Given the description of an element on the screen output the (x, y) to click on. 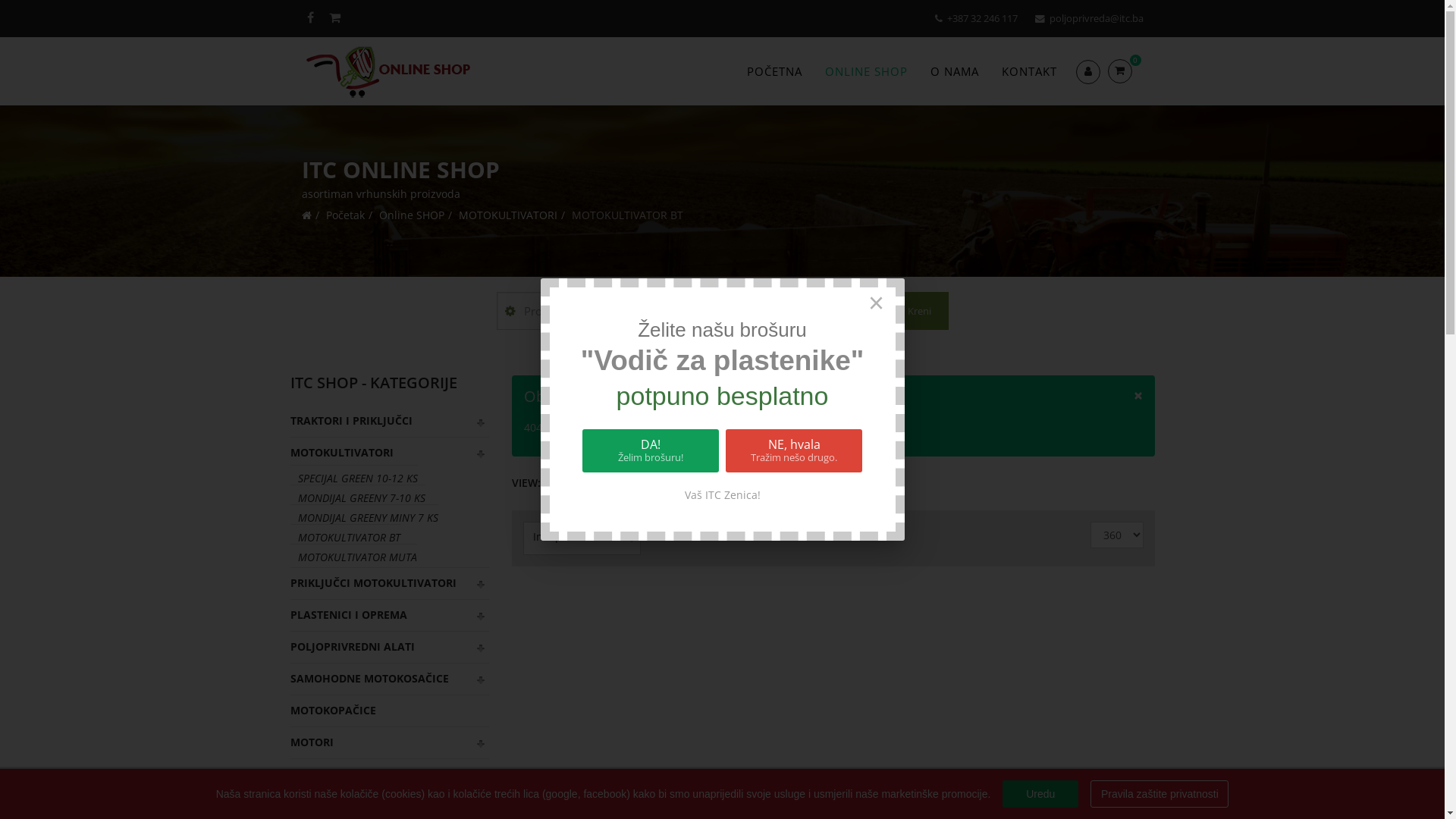
Kreni Element type: text (911, 310)
MONDIJAL GREENY MINY 7 KS Element type: text (363, 517)
MONDIJAL GREENY 7-10 KS Element type: text (356, 497)
Online SHOP Element type: text (411, 214)
MOTOKULTIVATOR MUTA Element type: text (352, 556)
MOTOKULTIVATOR BT Element type: text (344, 537)
0 Element type: text (1124, 71)
PLASTENICI I OPREMA Element type: text (389, 614)
MOTORI Element type: text (389, 742)
ONLINE SHOP Element type: text (865, 71)
Uredu Element type: text (1040, 793)
+387 32 246 117 Element type: text (981, 18)
MOTOKULTIVATORI Element type: text (389, 452)
OPREMA ZA MLJEKARSTVO Element type: text (389, 774)
O NAMA Element type: text (954, 71)
poljoprivreda@itc.ba Element type: text (1096, 18)
Ime proizvoda +/- Element type: text (577, 536)
KONTAKT Element type: text (1029, 71)
SPECIJAL GREEN 10-12 KS Element type: text (353, 477)
MOTOKULTIVATORI Element type: text (507, 214)
POLJOPRIVREDNI ALATI Element type: text (389, 646)
